Given the description of an element on the screen output the (x, y) to click on. 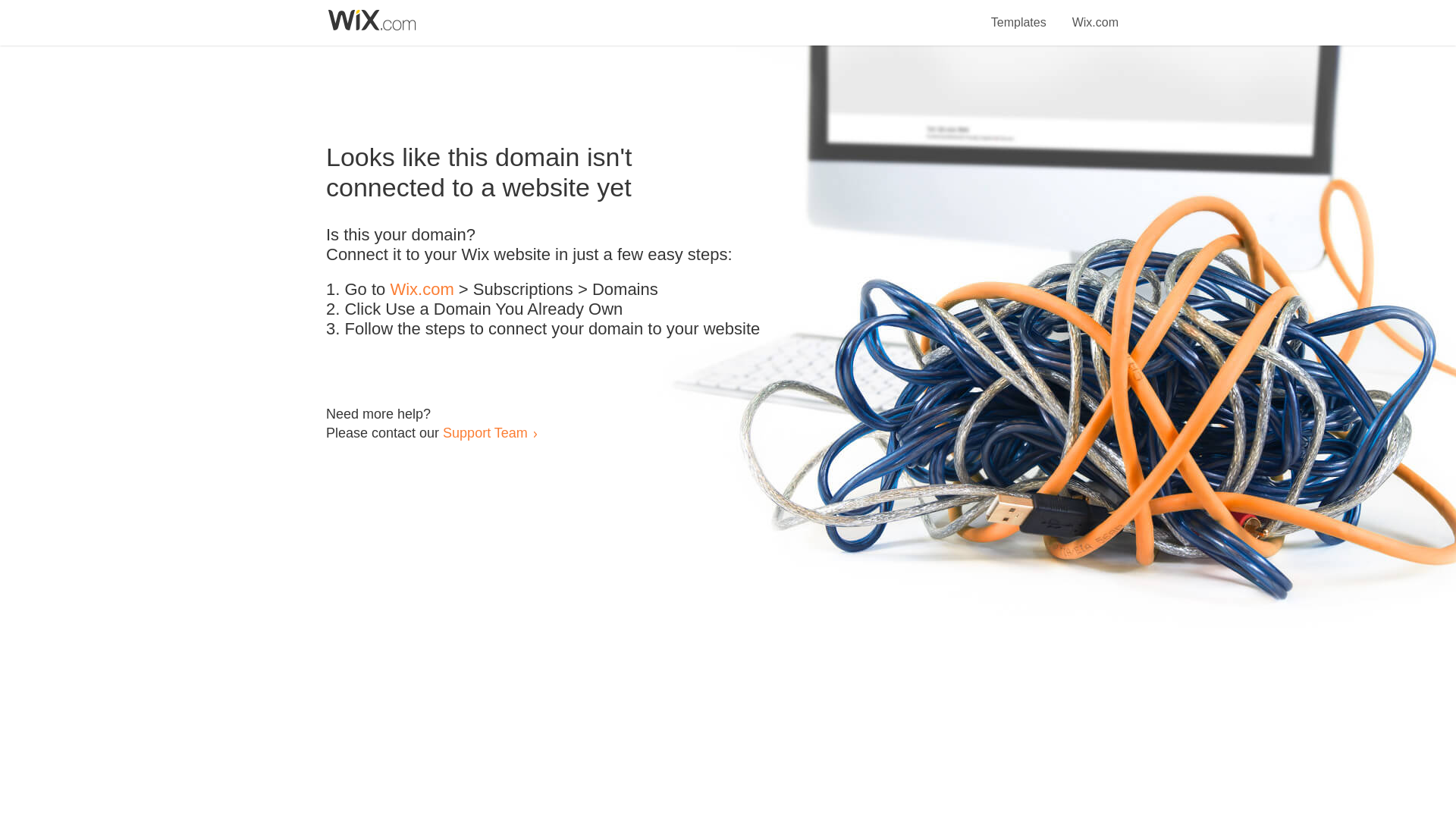
Templates (1018, 14)
Wix.com (1095, 14)
Wix.com (421, 289)
Support Team (484, 432)
